Given the description of an element on the screen output the (x, y) to click on. 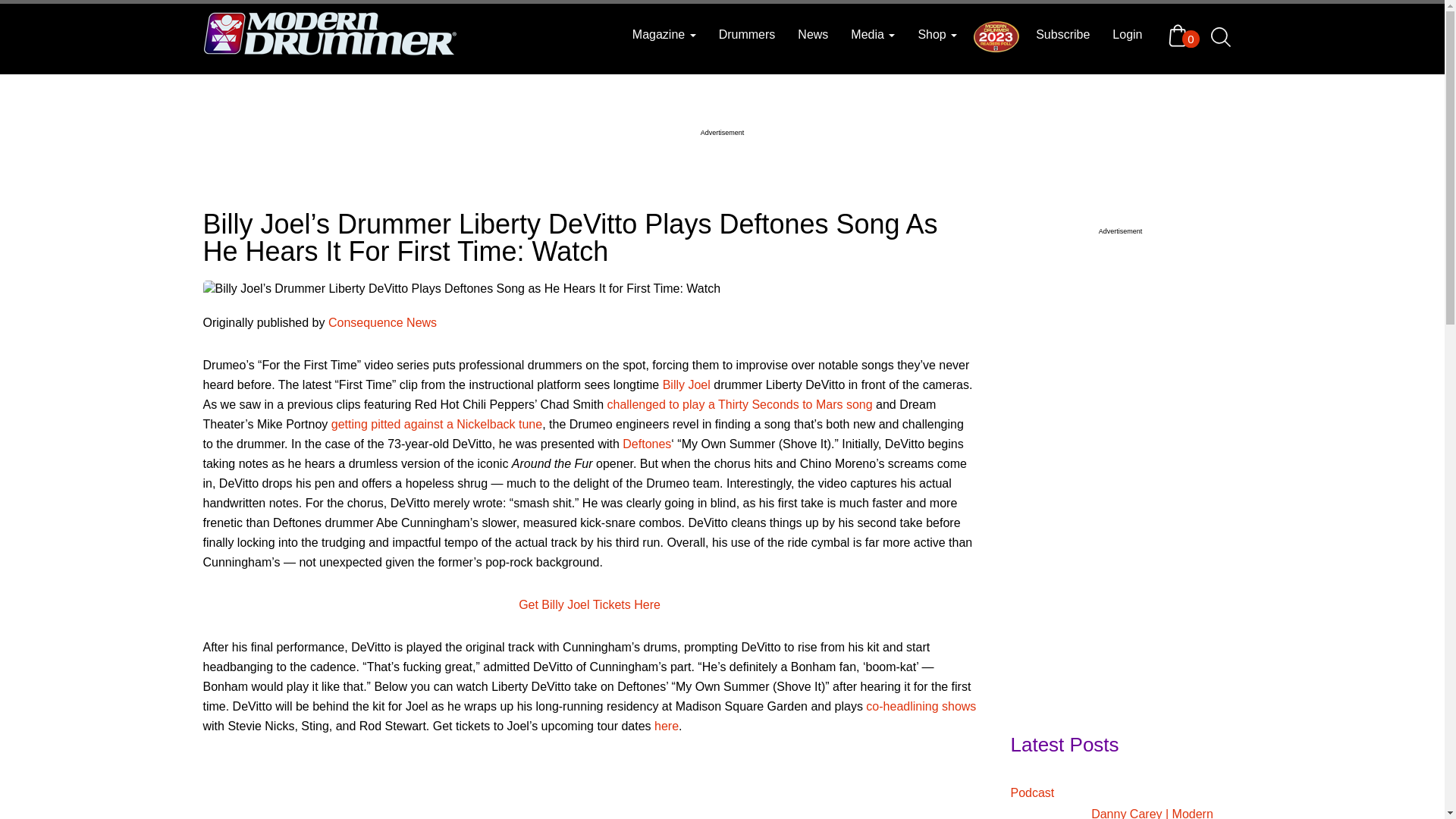
View your Orders (1180, 35)
Media (872, 34)
Magazine (664, 34)
subscribe (1062, 34)
0 (1180, 35)
Drummers (747, 34)
Shop (936, 34)
Subscribe (1062, 34)
